Given the description of an element on the screen output the (x, y) to click on. 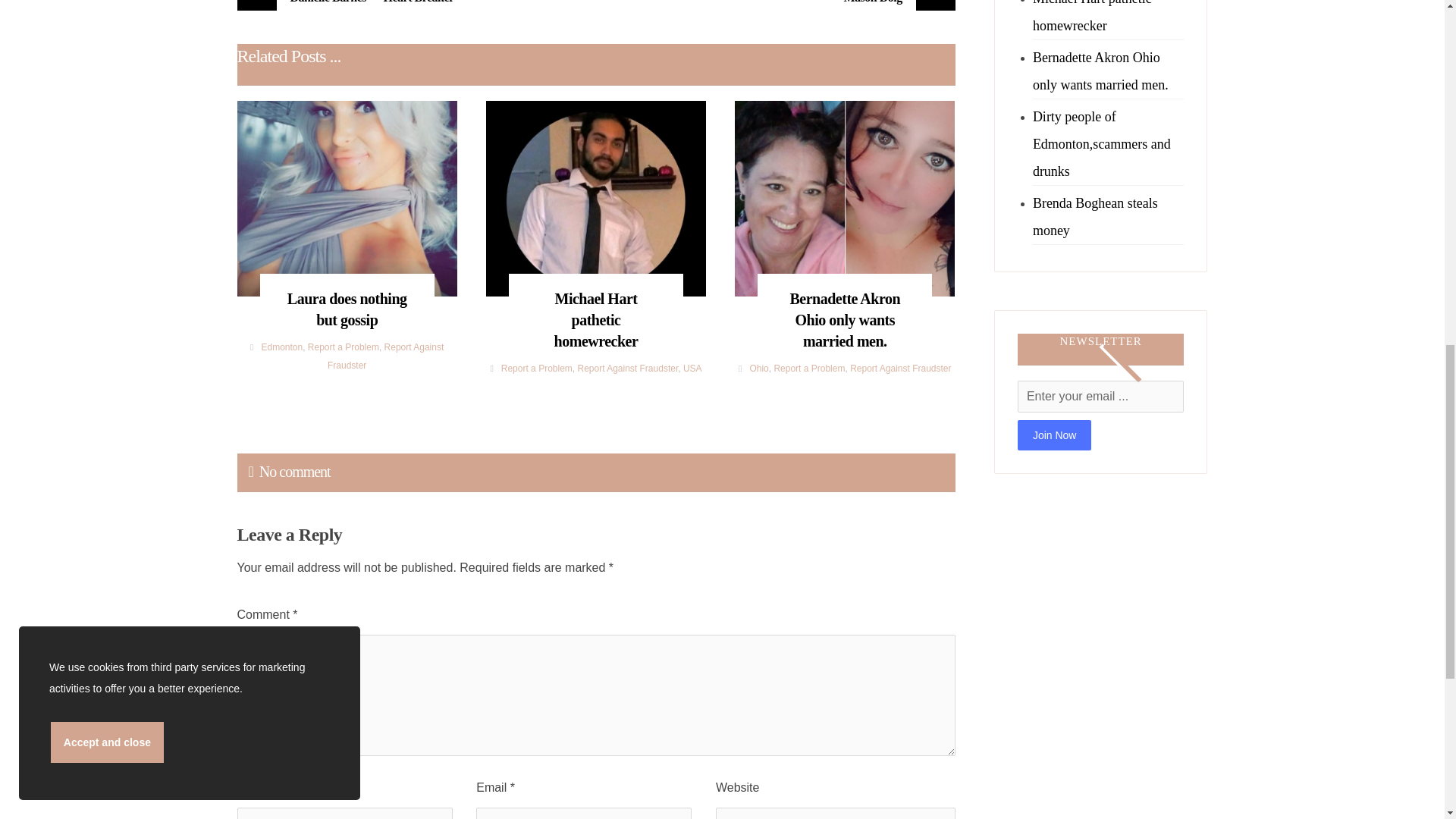
Edmonton (281, 347)
Ohio (758, 368)
Report Against Fraudster (627, 368)
Report a Problem (342, 347)
Report a Problem (536, 368)
Laura does nothing but gossip (346, 301)
Bernadette Akron Ohio only wants married men. (845, 312)
Report Against Fraudster (385, 356)
Michael Hart pathetic homewrecker (596, 312)
USA (691, 368)
